Given the description of an element on the screen output the (x, y) to click on. 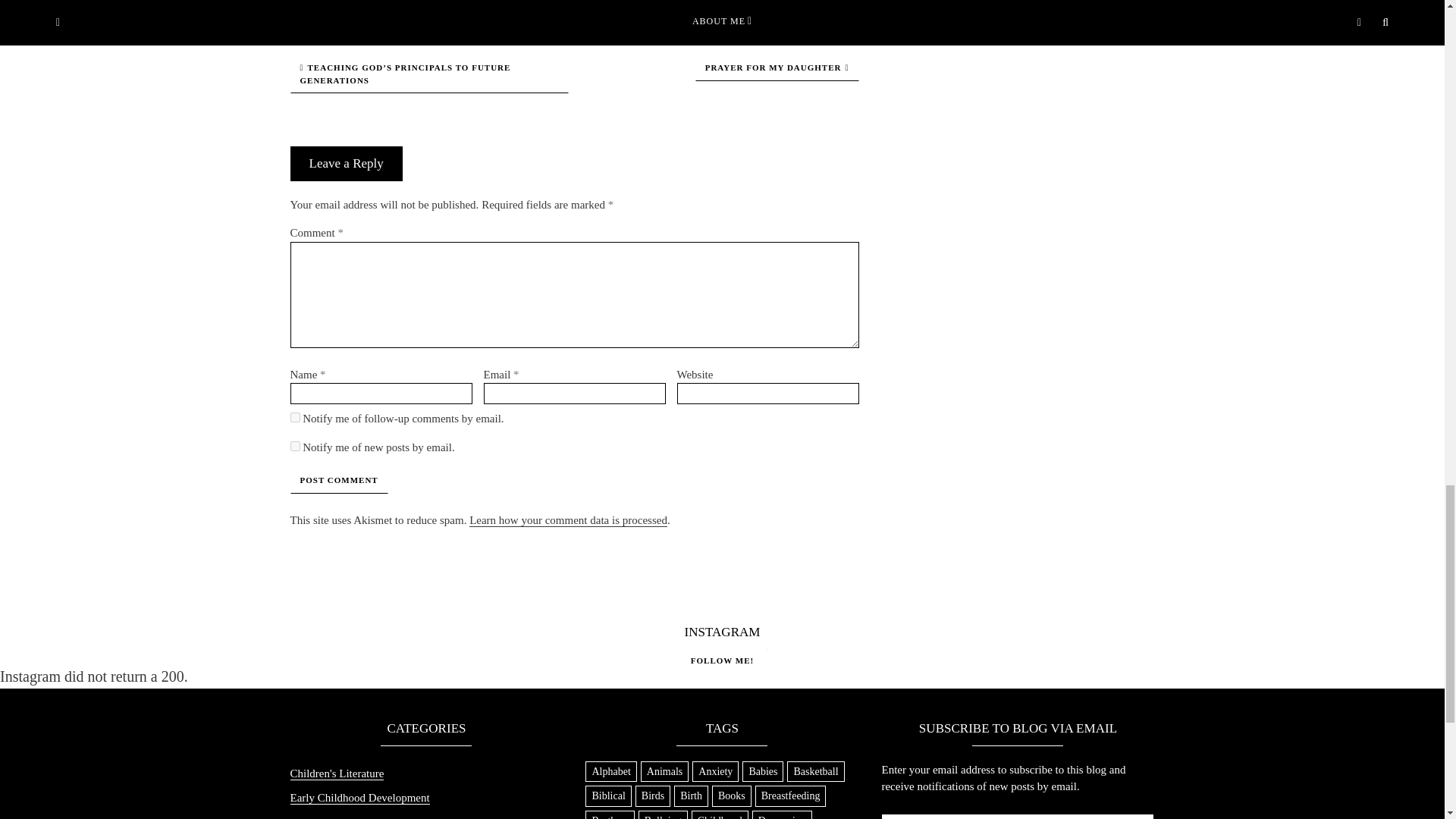
subscribe (294, 417)
Learn how your comment data is processed (567, 520)
LEAVE A COMMENT (687, 2)
CHILDREN'S LITERATURE (575, 2)
ARLENE ABUNDIS (464, 2)
PRAYER FOR MY DAUGHTER (777, 67)
subscribe (294, 446)
Post Comment (338, 479)
View all posts by Arlene Abundis (464, 2)
Post Comment (338, 479)
